Given the description of an element on the screen output the (x, y) to click on. 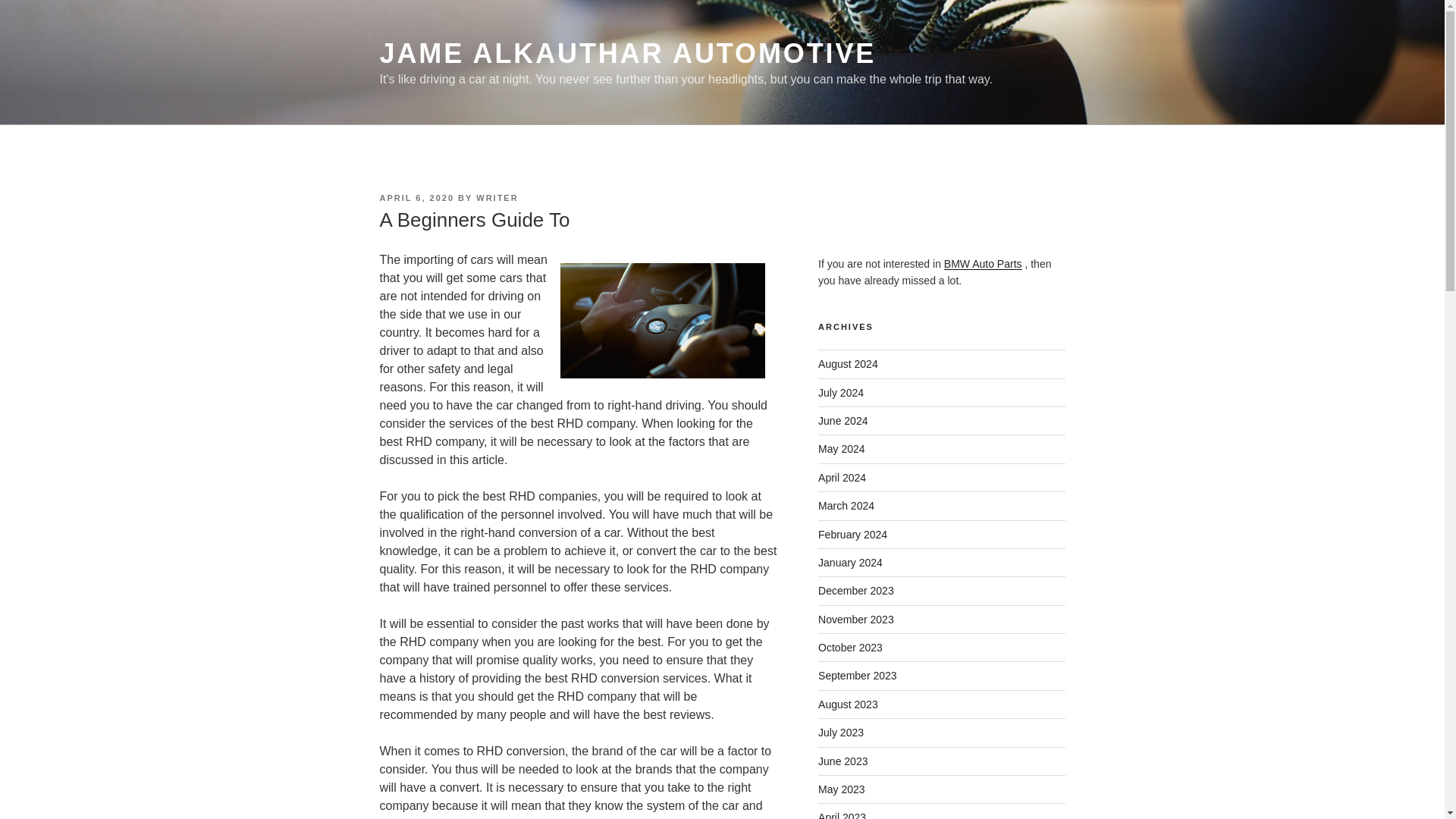
August 2024 (847, 363)
November 2023 (855, 619)
May 2023 (841, 788)
July 2023 (840, 732)
WRITER (497, 197)
February 2024 (852, 534)
June 2024 (842, 420)
October 2023 (850, 647)
March 2024 (846, 505)
December 2023 (855, 590)
